Given the description of an element on the screen output the (x, y) to click on. 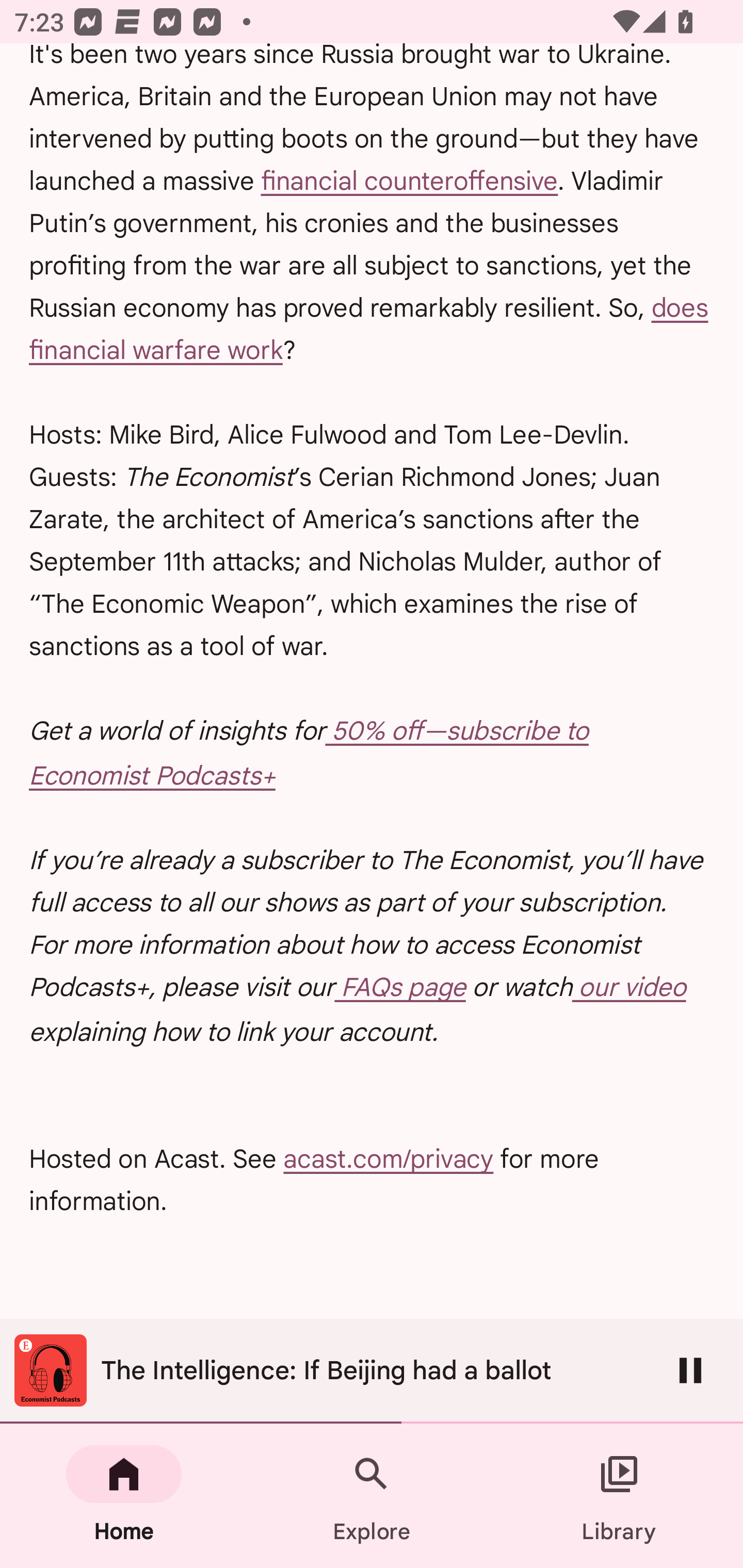
Pause (690, 1370)
Explore (371, 1495)
Library (619, 1495)
